Given the description of an element on the screen output the (x, y) to click on. 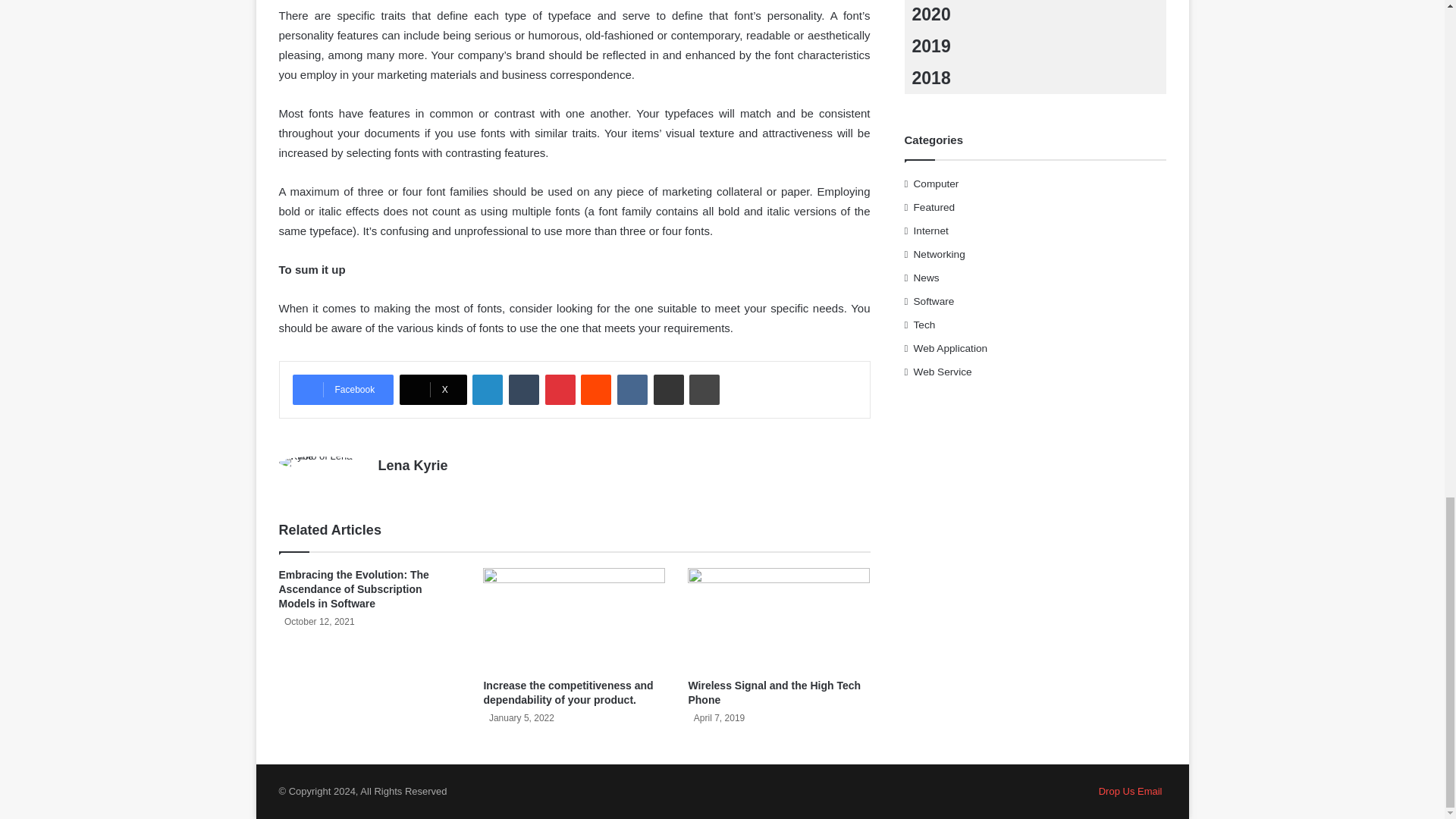
Pinterest (559, 389)
Reddit (595, 389)
Facebook (343, 389)
VKontakte (632, 389)
Reddit (595, 389)
Share via Email (668, 389)
X (432, 389)
X (432, 389)
Facebook (343, 389)
Pinterest (559, 389)
